Given the description of an element on the screen output the (x, y) to click on. 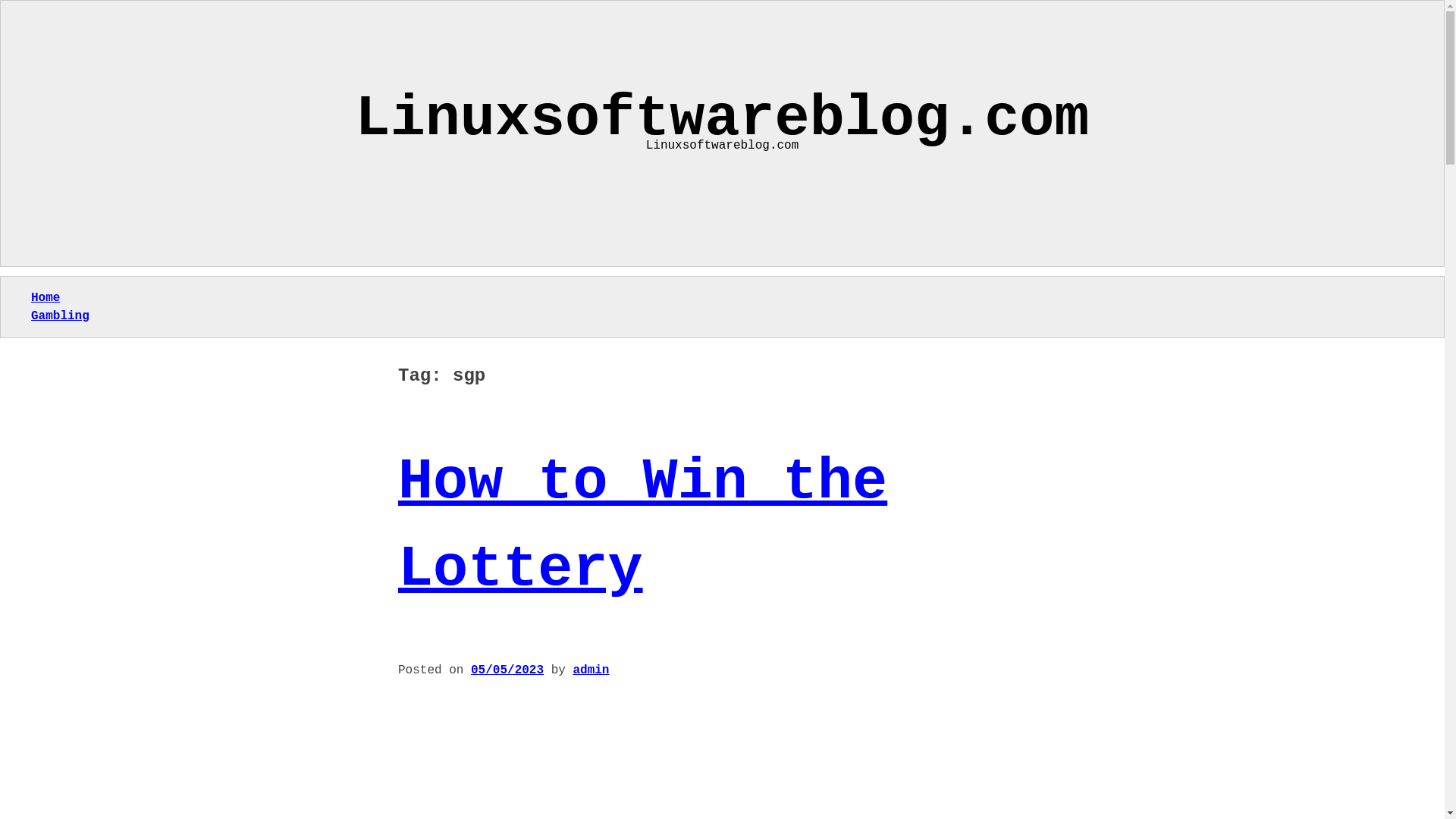
Home (44, 297)
How to Win the Lottery (641, 524)
Linuxsoftwareblog.com (722, 119)
Gambling (59, 315)
admin (590, 670)
